Given the description of an element on the screen output the (x, y) to click on. 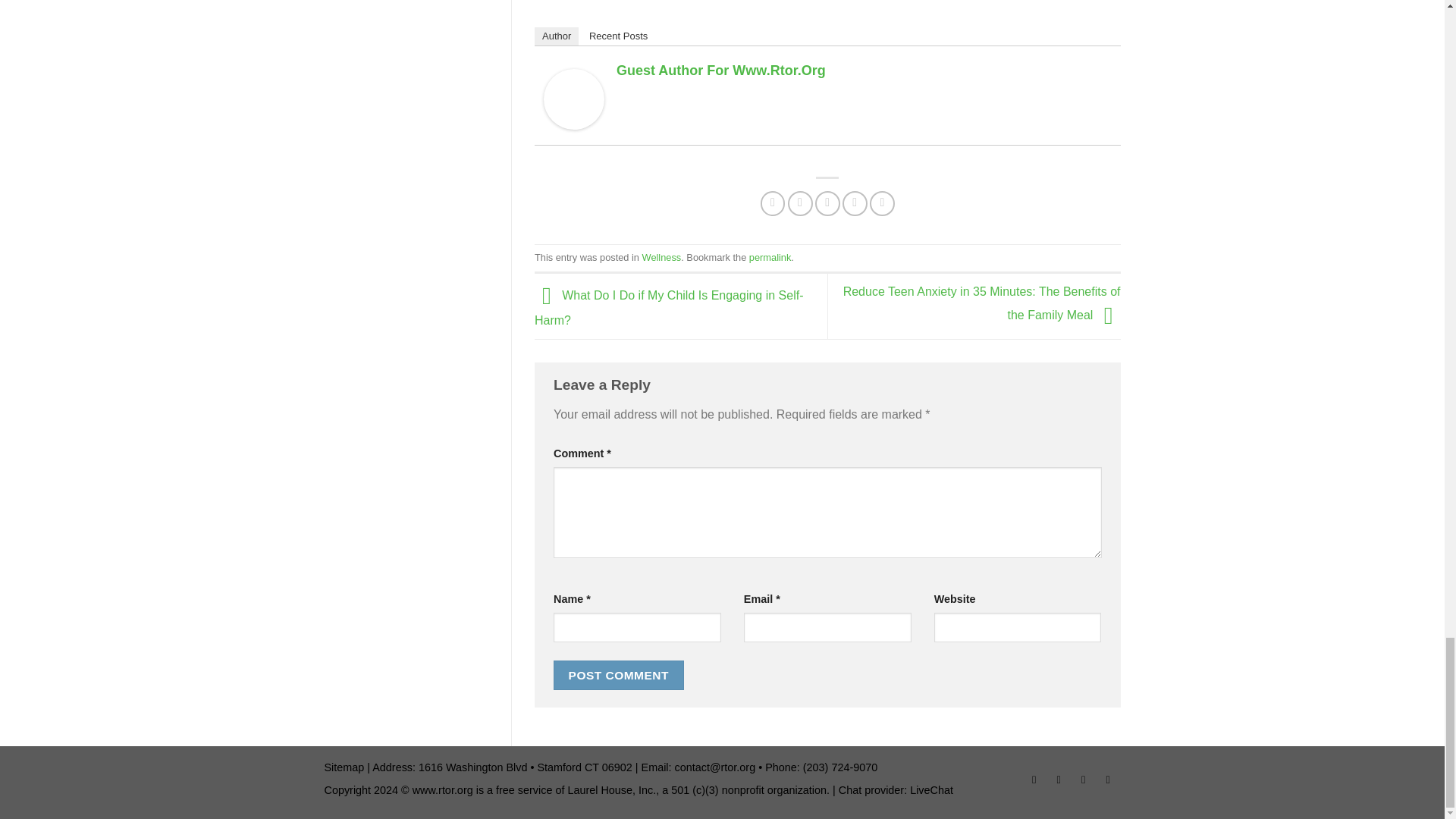
Post Comment (618, 675)
Share on Facebook (773, 203)
Email to a Friend (827, 203)
Follow on Instagram (1058, 781)
Follow on Facebook (1034, 781)
Share on LinkedIn (882, 203)
Guest Author for www.rtor.org (573, 97)
Follow on Twitter (1082, 781)
Share on Twitter (799, 203)
Pin on Pinterest (855, 203)
